Given the description of an element on the screen output the (x, y) to click on. 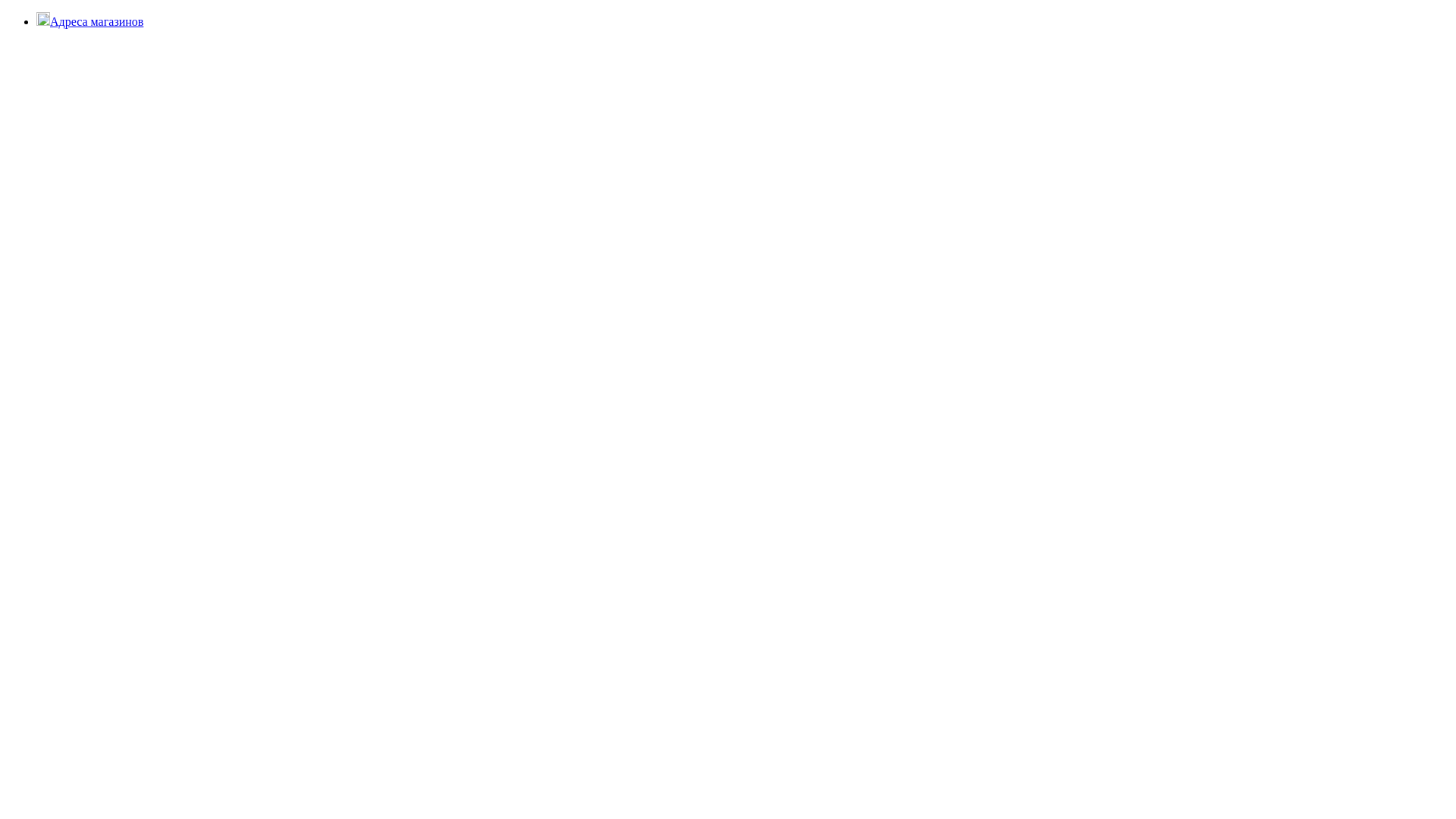
location Element type: hover (43, 18)
